Given the description of an element on the screen output the (x, y) to click on. 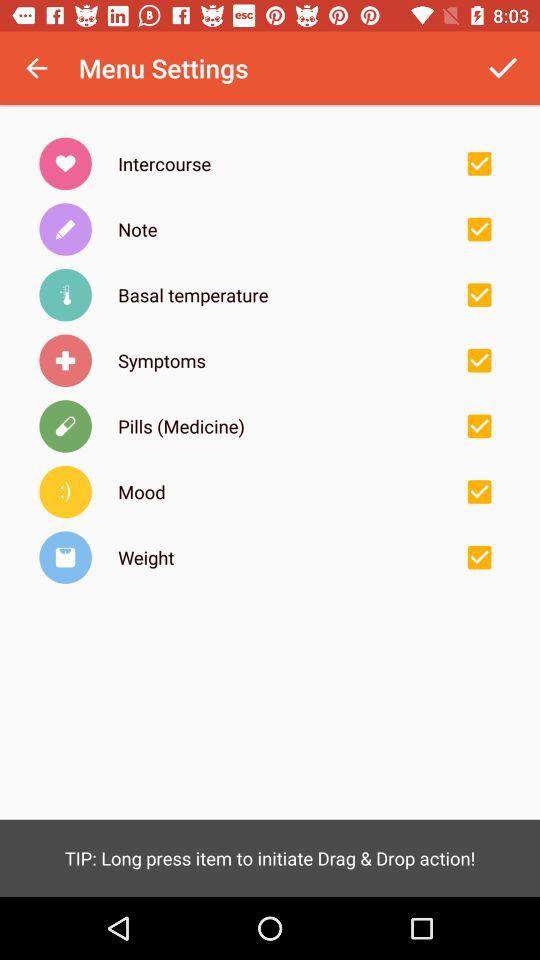
item selection box (479, 557)
